Given the description of an element on the screen output the (x, y) to click on. 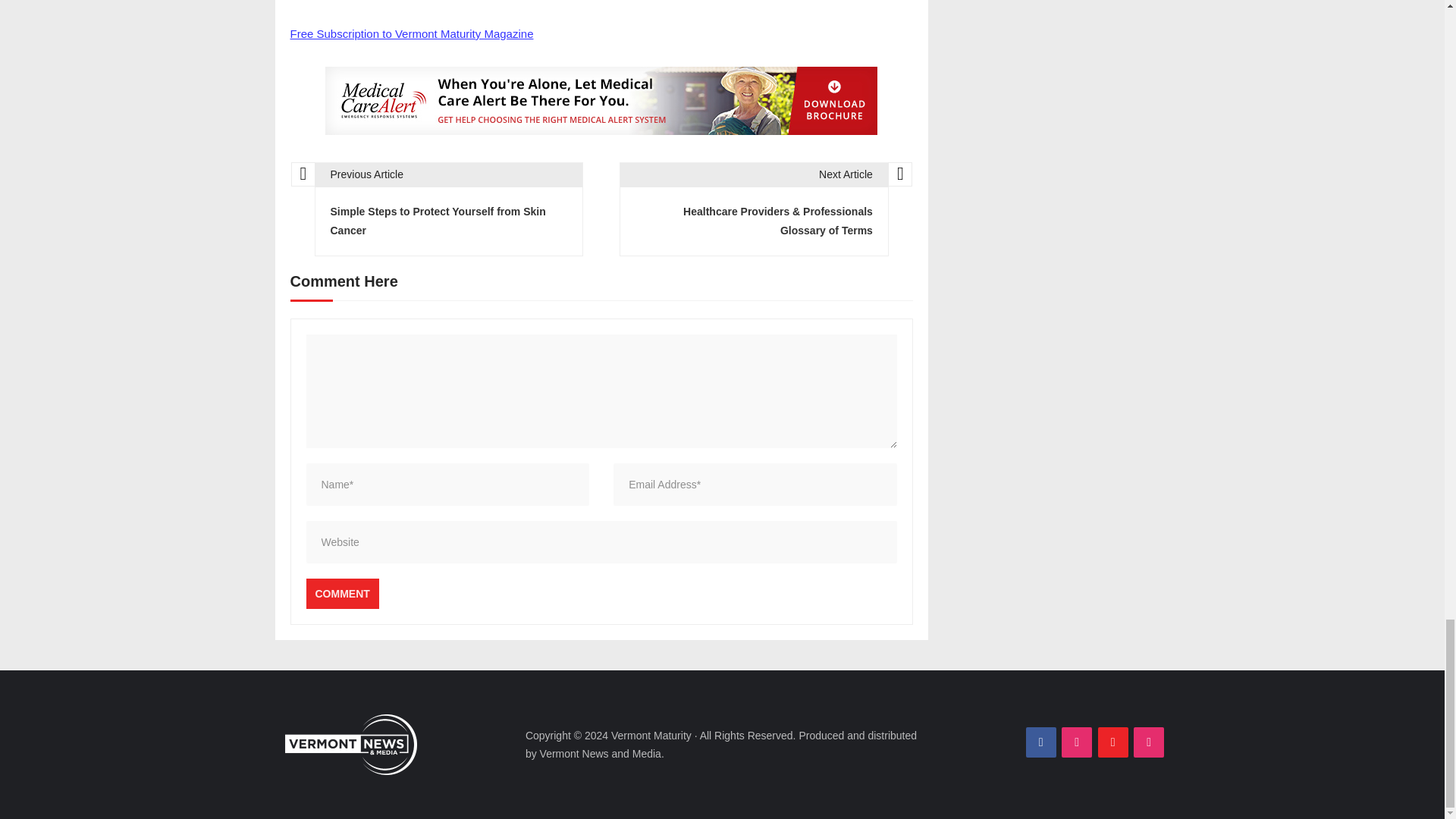
Comment (341, 593)
